Given the description of an element on the screen output the (x, y) to click on. 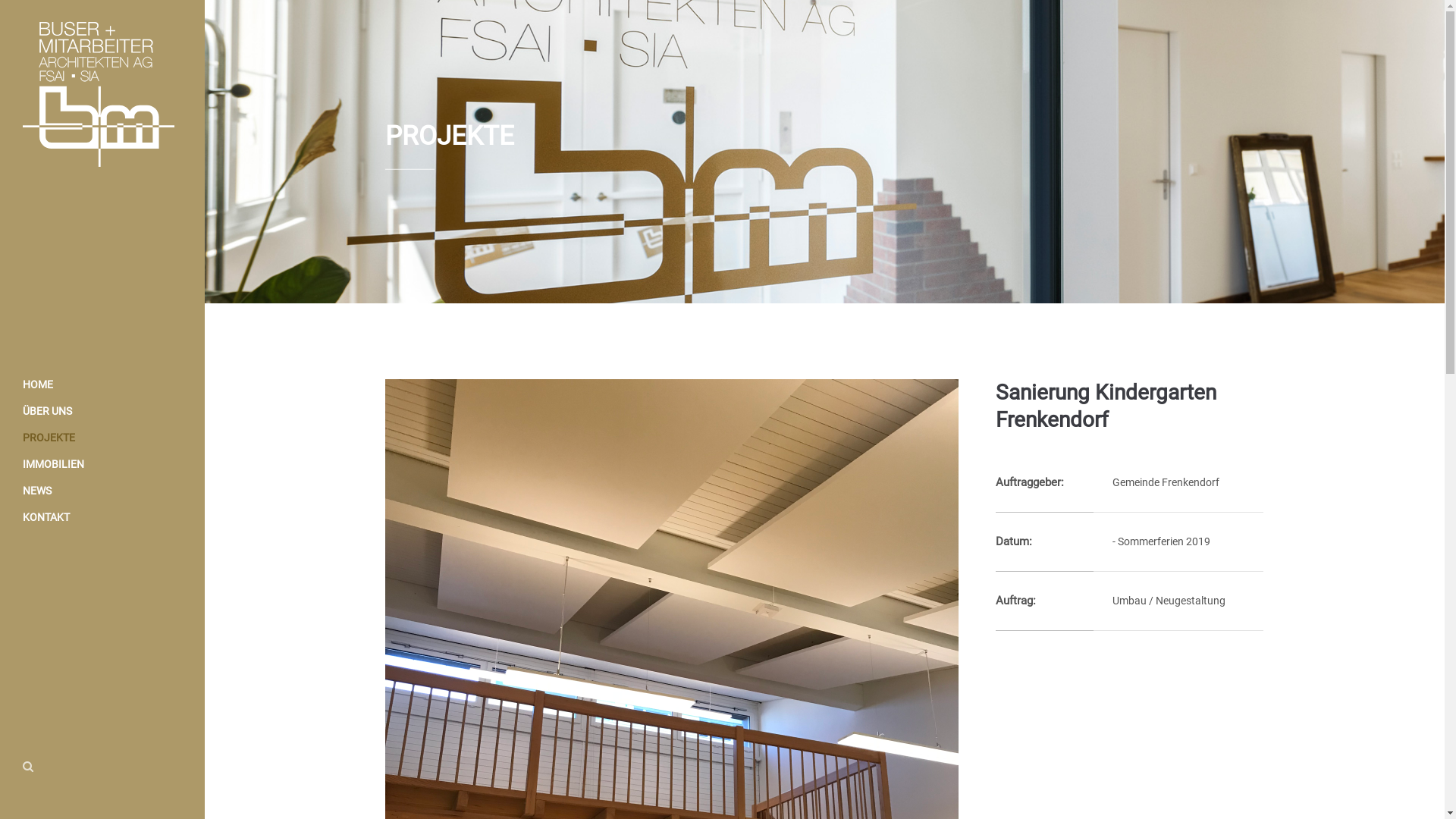
HOME Element type: text (102, 384)
KONTAKT Element type: text (102, 517)
IMMOBILIEN Element type: text (102, 464)
NEWS Element type: text (102, 490)
PROJEKTE Element type: text (102, 437)
